Given the description of an element on the screen output the (x, y) to click on. 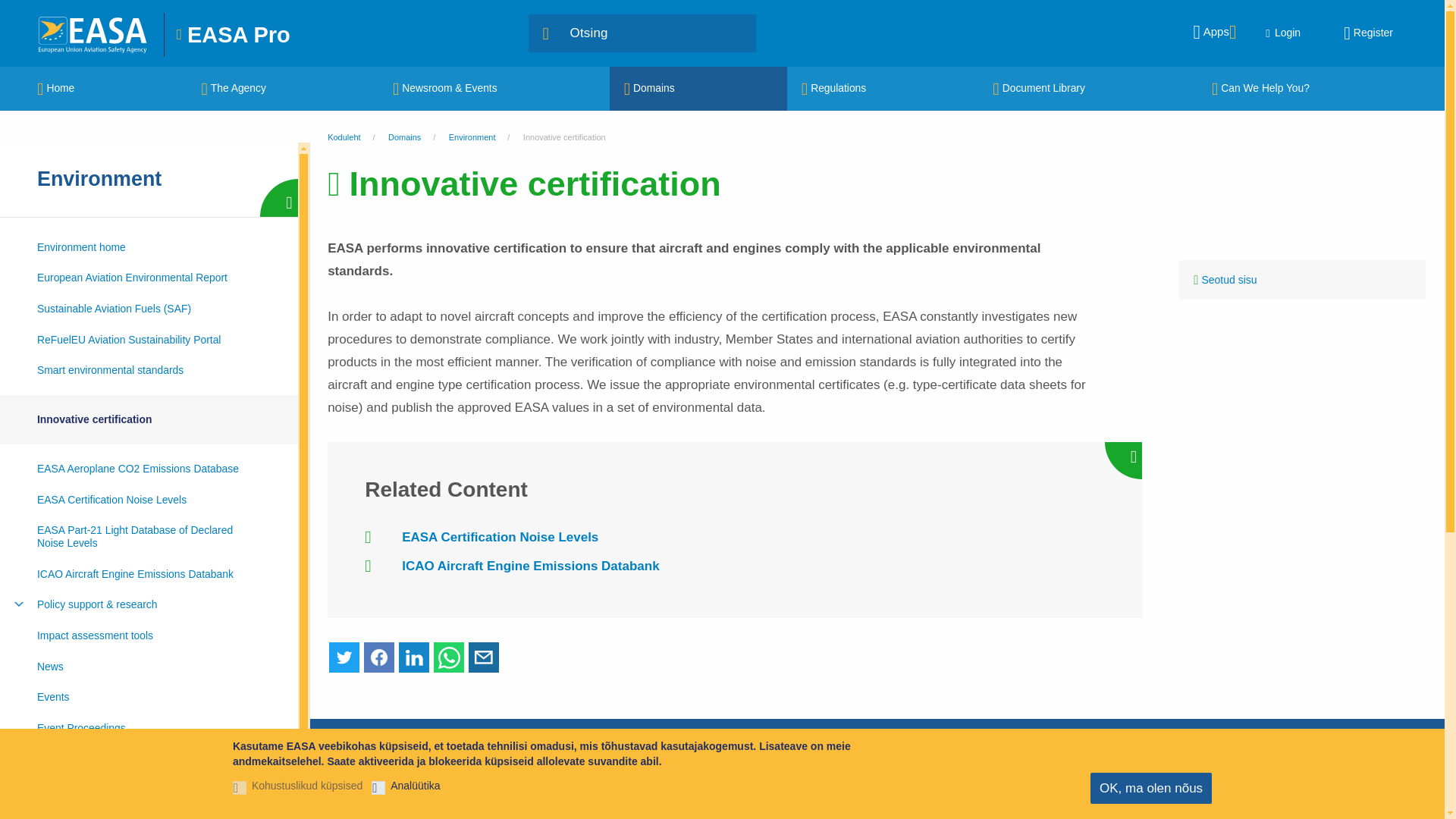
Seotud sisu (1302, 279)
Twitter (344, 657)
Toggle menu (18, 603)
E-Post (483, 657)
Facebook (379, 657)
LinkedIn (413, 657)
Whatsapp (448, 657)
Koduleht (94, 33)
